Given the description of an element on the screen output the (x, y) to click on. 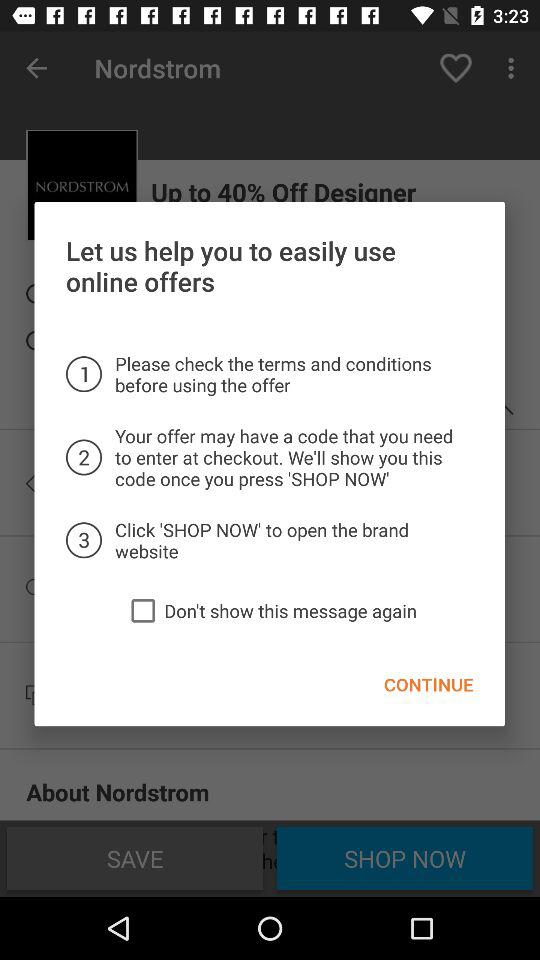
choose continue (428, 683)
